Given the description of an element on the screen output the (x, y) to click on. 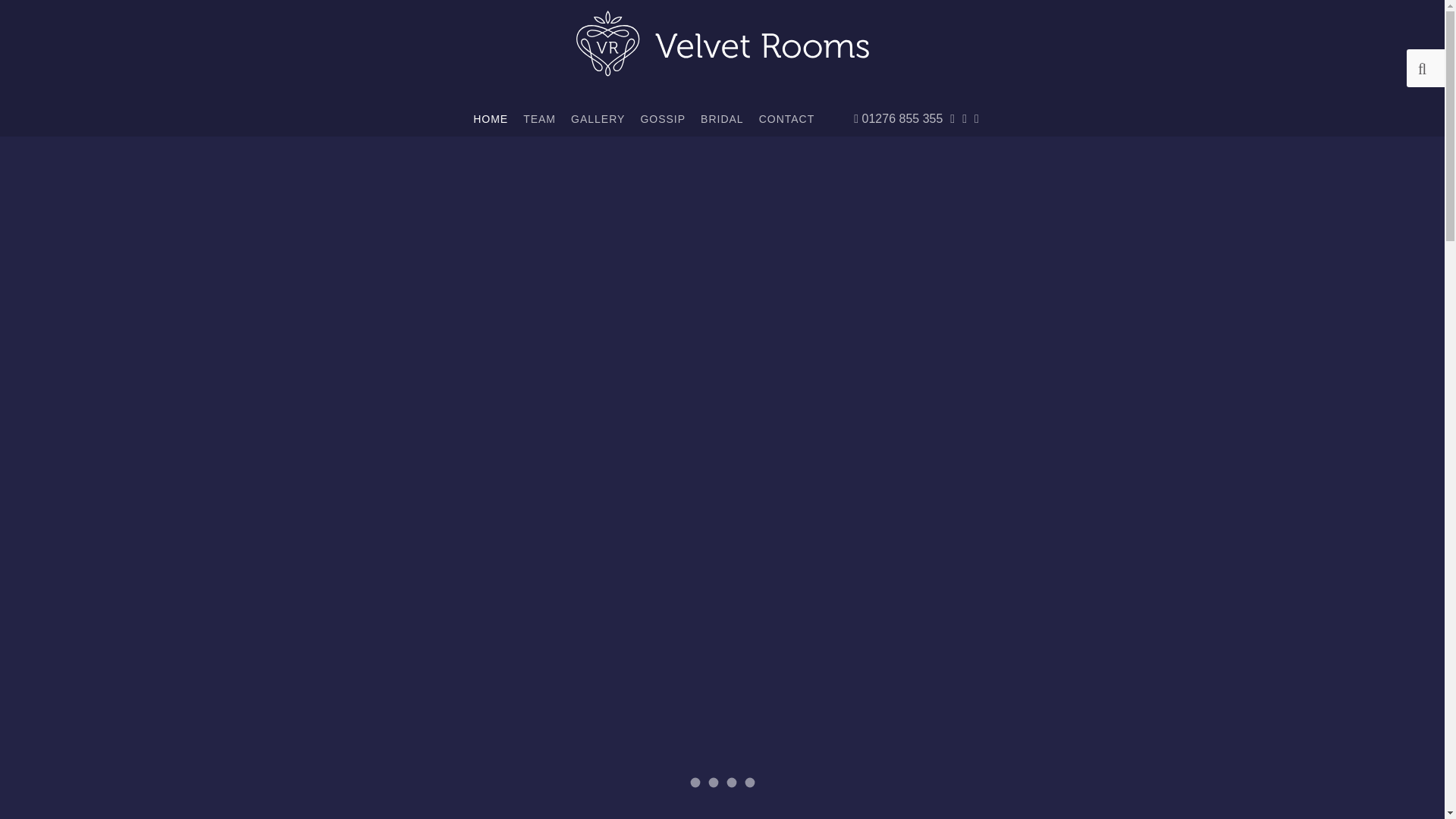
GALLERY (597, 119)
TEAM (539, 119)
BRIDAL (722, 119)
CONTACT (786, 119)
01276 855 355 (897, 118)
GOSSIP (662, 119)
VIP Blow-dry Club (713, 784)
HOME (490, 119)
Dedicated to providing the very best in hair care (695, 784)
